Given the description of an element on the screen output the (x, y) to click on. 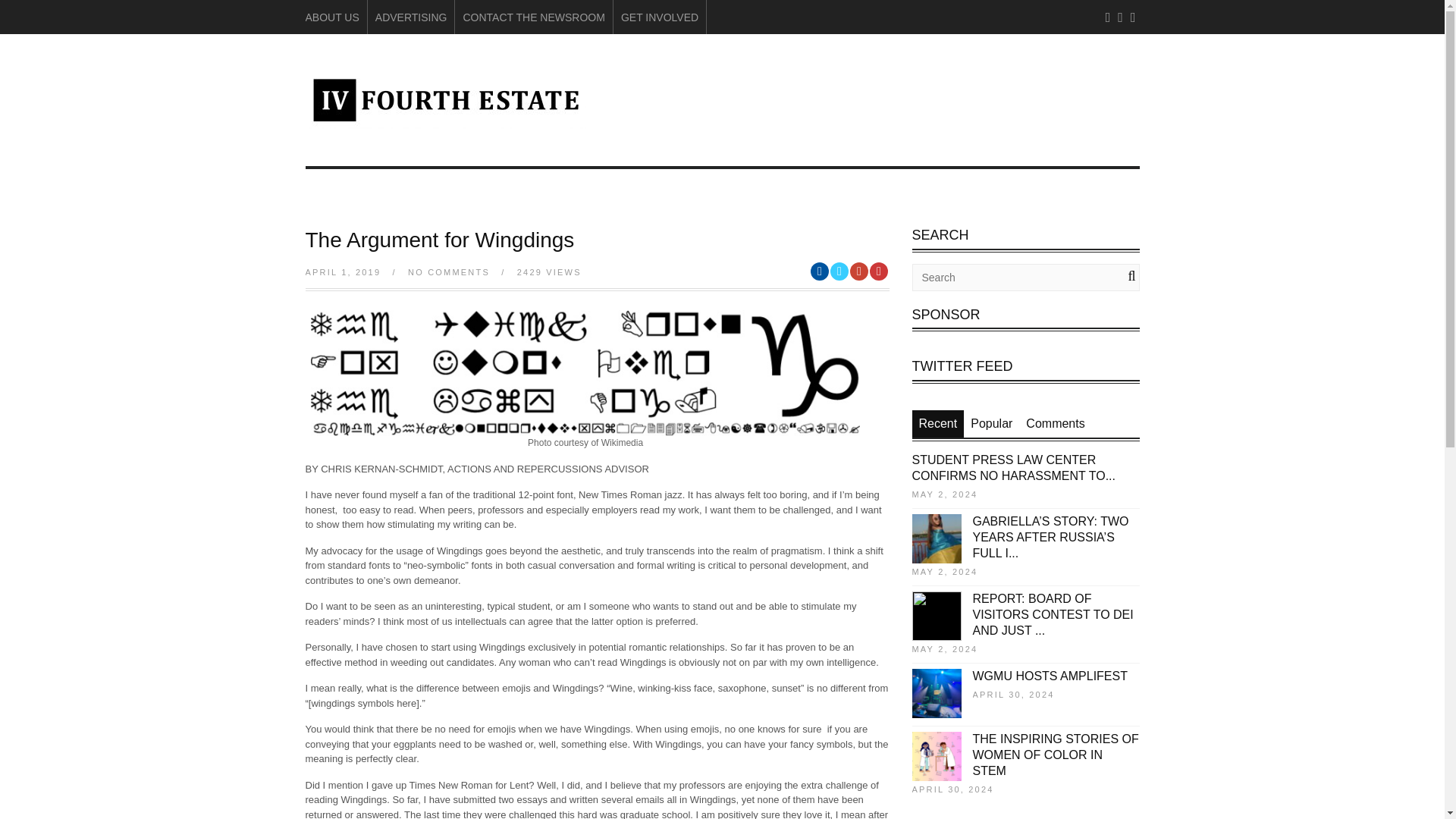
GET INVOLVED (659, 17)
Fourth Estate (444, 121)
ADVERTISING (410, 17)
ABOUT US (331, 17)
CONTACT THE NEWSROOM (533, 17)
